Given the description of an element on the screen output the (x, y) to click on. 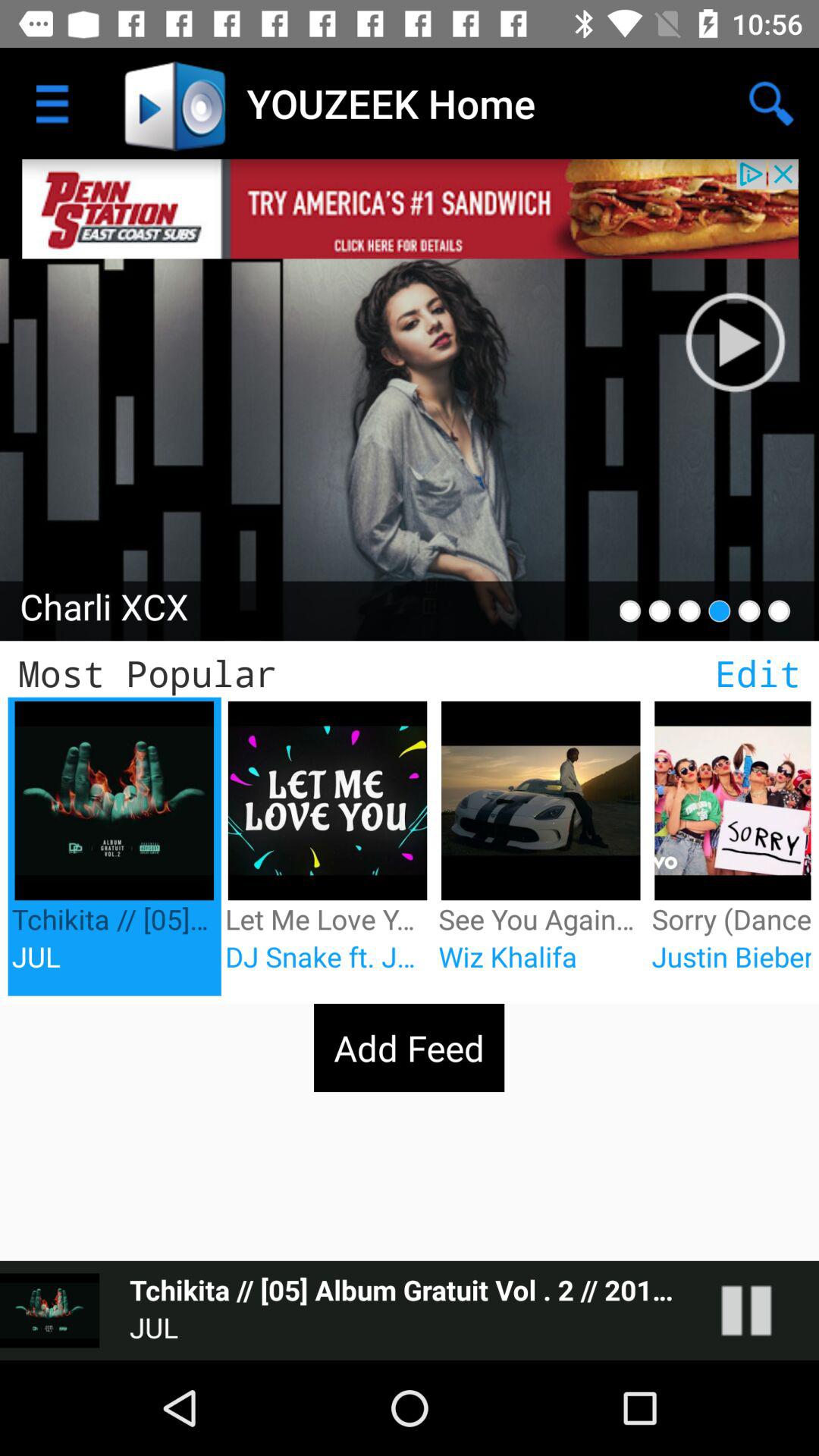
play music (751, 326)
